Given the description of an element on the screen output the (x, y) to click on. 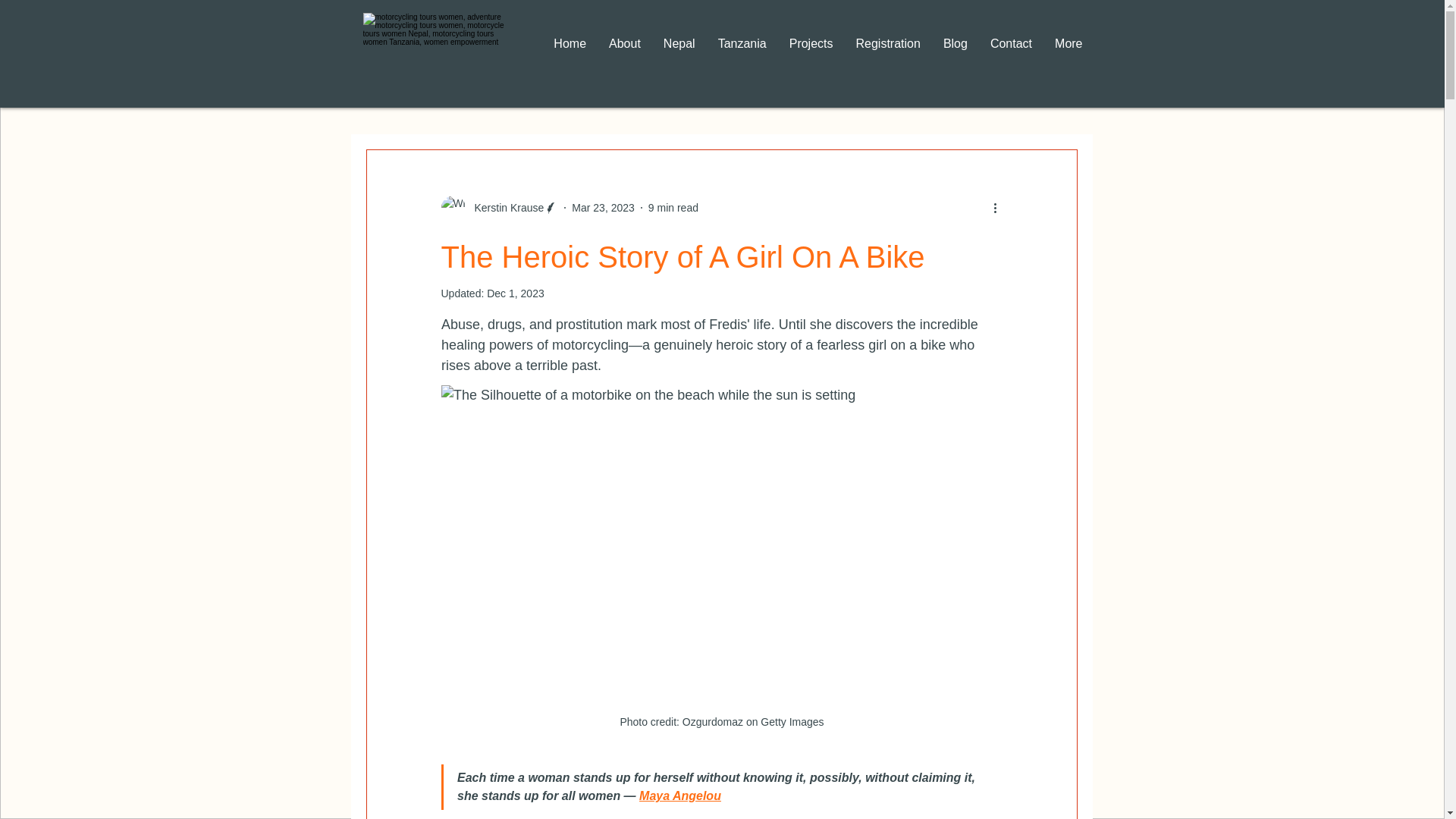
Home (568, 54)
Mar 23, 2023 (603, 207)
Registration (887, 54)
Tanzania (741, 54)
Nepal (679, 54)
Contact (1010, 54)
Dec 1, 2023 (515, 293)
9 min read (672, 207)
Projects (810, 54)
Kerstin Krause (500, 207)
Maya Angelou (679, 795)
About (624, 54)
Blog (954, 54)
Kerstin Krause (504, 207)
